Given the description of an element on the screen output the (x, y) to click on. 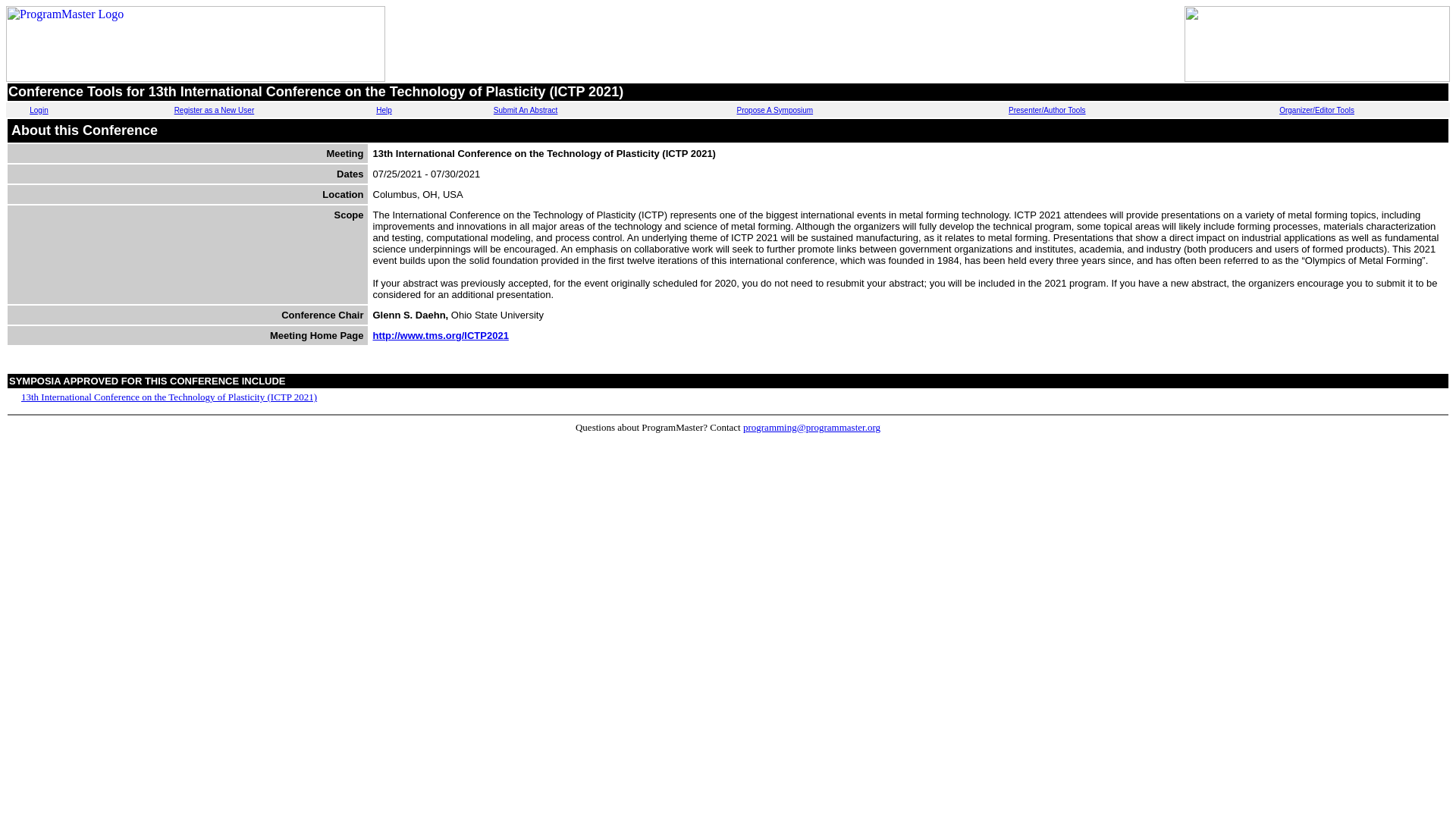
Submit An Abstract (525, 110)
Propose A Symposium (774, 110)
Login (38, 110)
Glenn S. Daehn (408, 315)
Register as a New User (214, 110)
Help (383, 110)
